Given the description of an element on the screen output the (x, y) to click on. 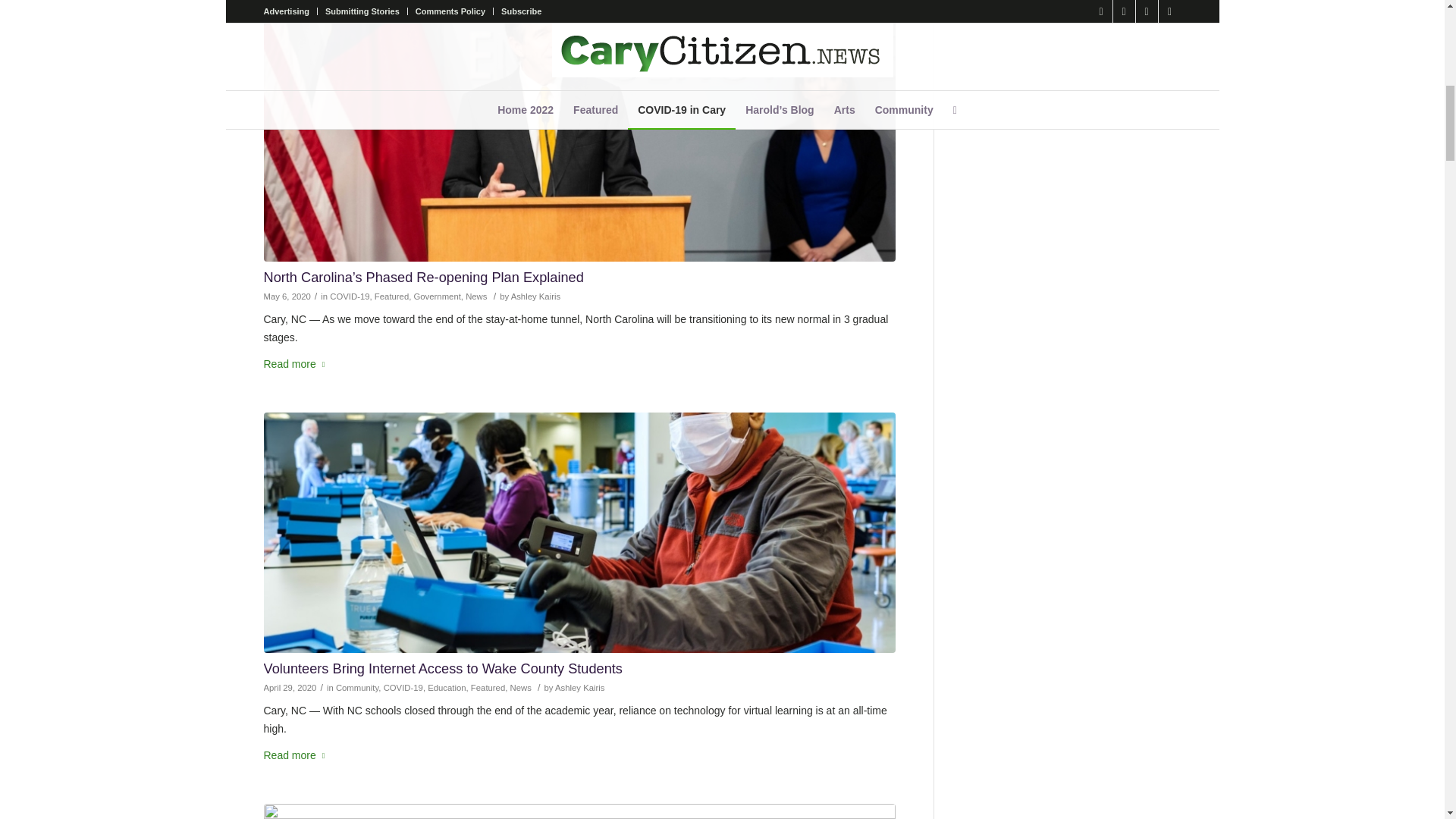
Posts by Ashley Kairis (579, 687)
Posts by Ashley Kairis (535, 296)
cary-town-hall-1993 (579, 811)
